Given the description of an element on the screen output the (x, y) to click on. 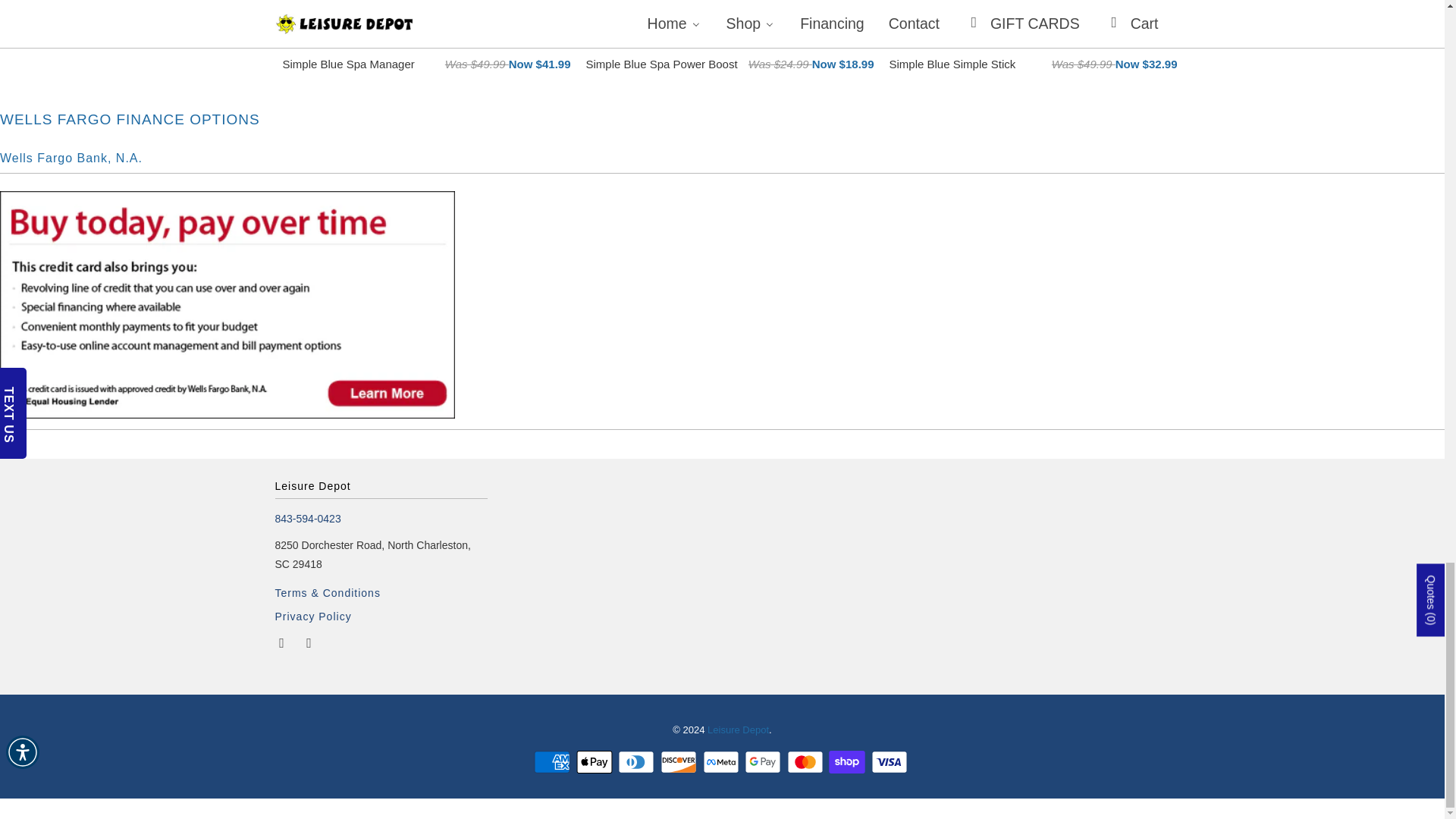
Shop Pay (847, 762)
Diners Club (637, 762)
Google Pay (764, 762)
American Express (553, 762)
Mastercard (807, 762)
Discover (680, 762)
Visa (890, 762)
Meta Pay (721, 762)
Apple Pay (595, 762)
